Given the description of an element on the screen output the (x, y) to click on. 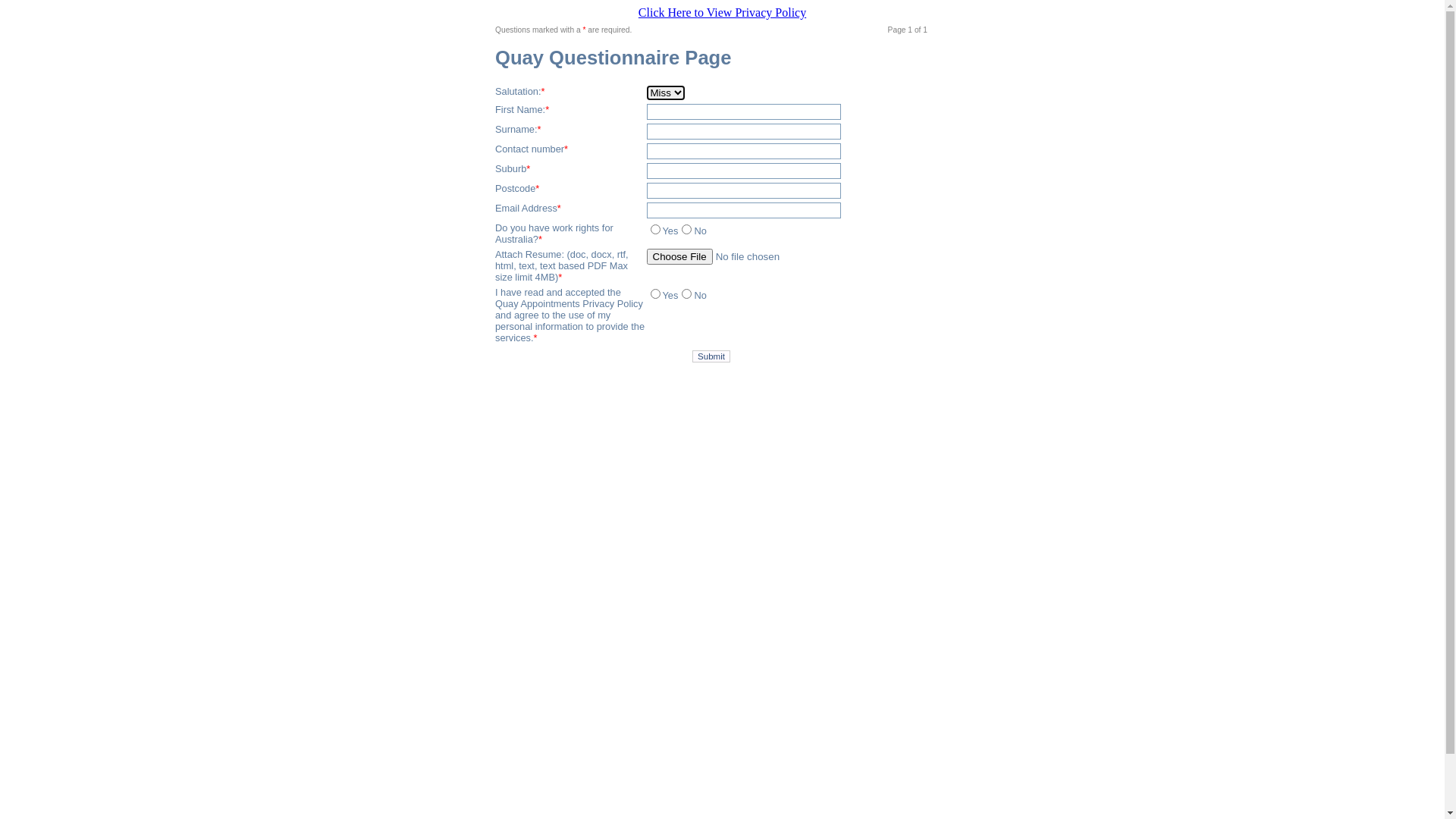
Click Here to View Privacy Policy Element type: text (722, 12)
